Given the description of an element on the screen output the (x, y) to click on. 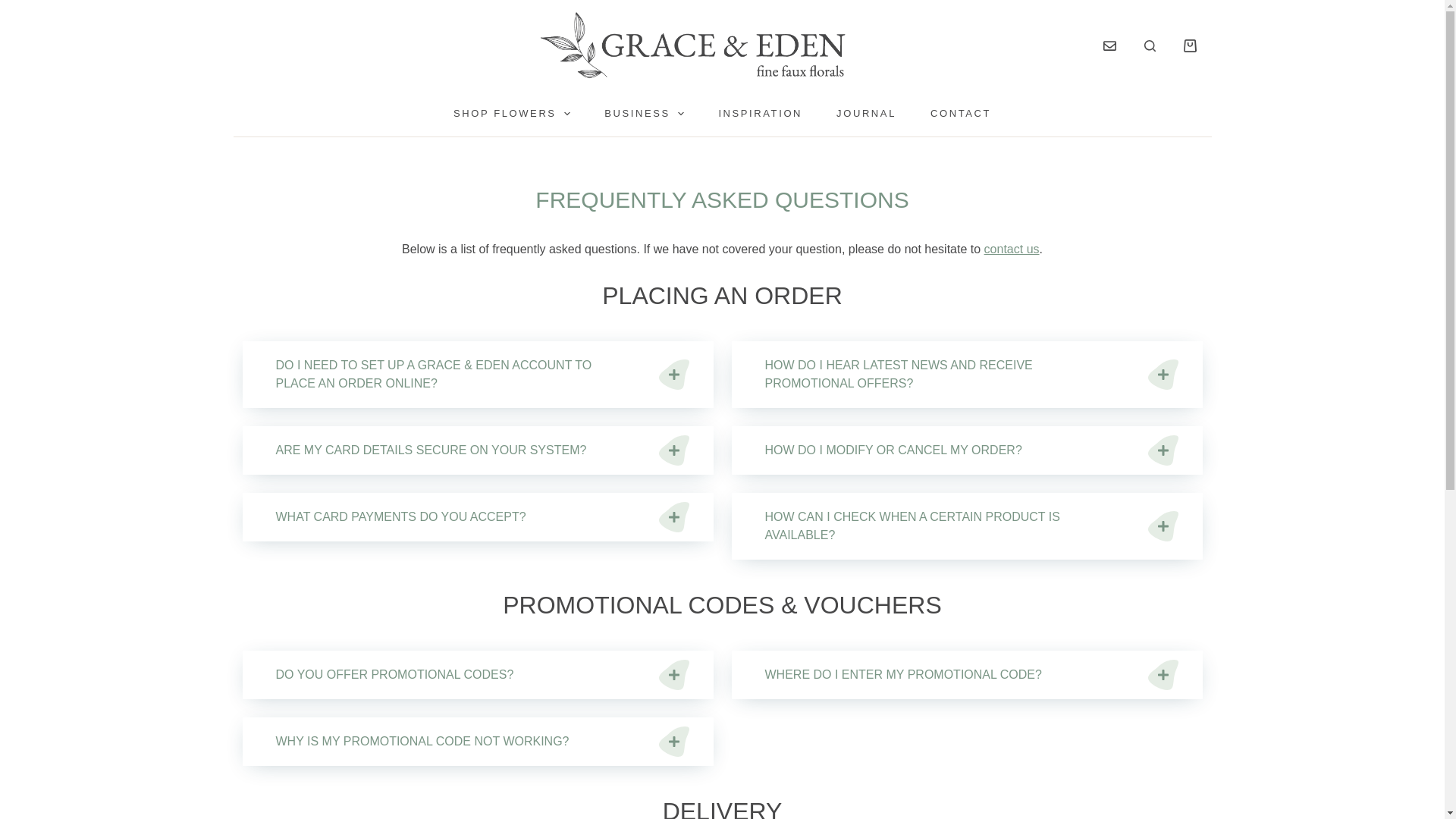
BUSINESS (644, 113)
Skip to content (15, 7)
SHOP FLOWERS (510, 113)
Frequently Asked Questions (721, 199)
Shopping cart (1188, 45)
